Given the description of an element on the screen output the (x, y) to click on. 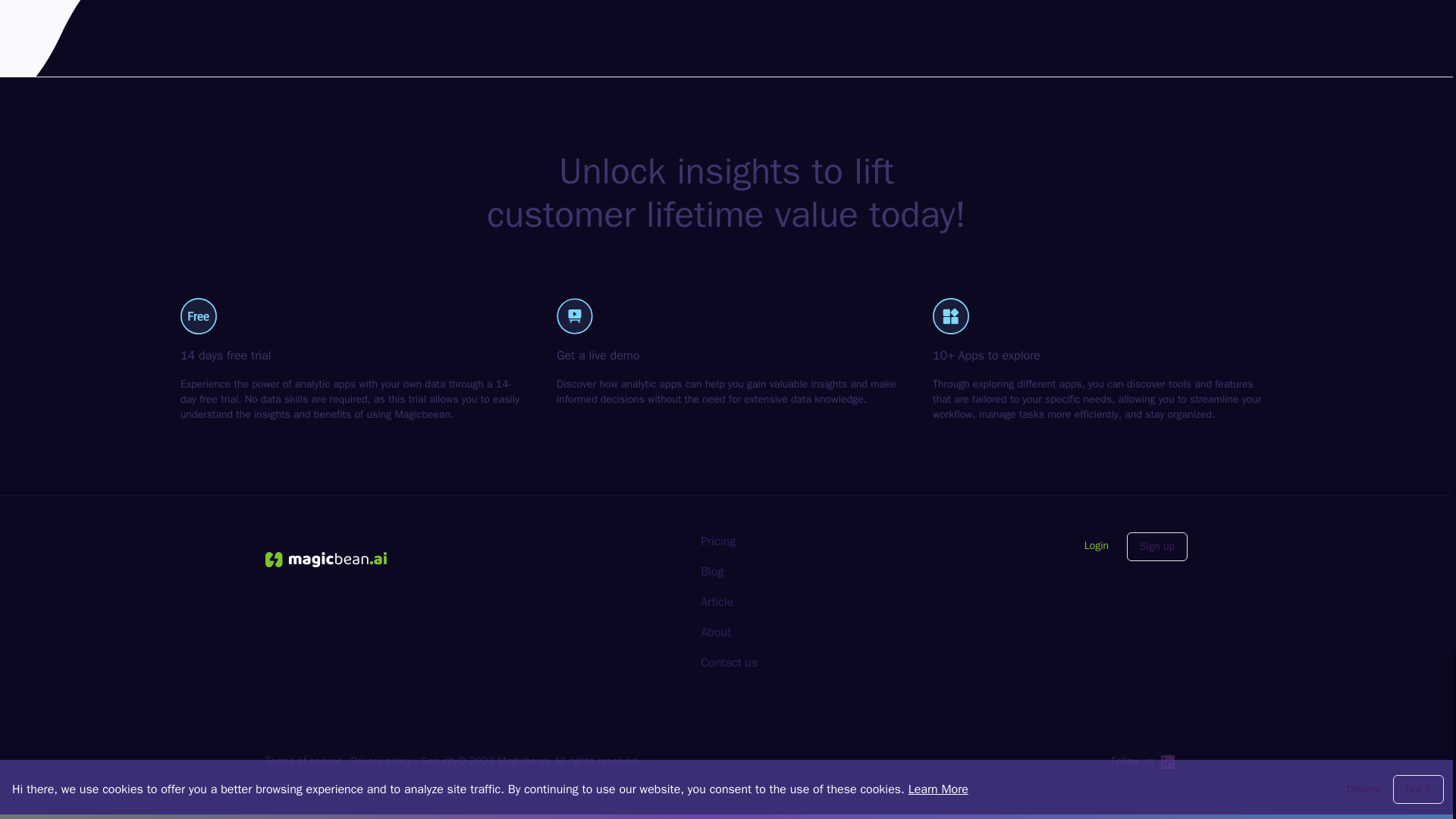
Follow us (1143, 761)
Blog (711, 571)
Login (1096, 545)
Pricing (717, 540)
Sign up (1157, 546)
Contact us (728, 662)
About (715, 631)
Article (716, 601)
